Given the description of an element on the screen output the (x, y) to click on. 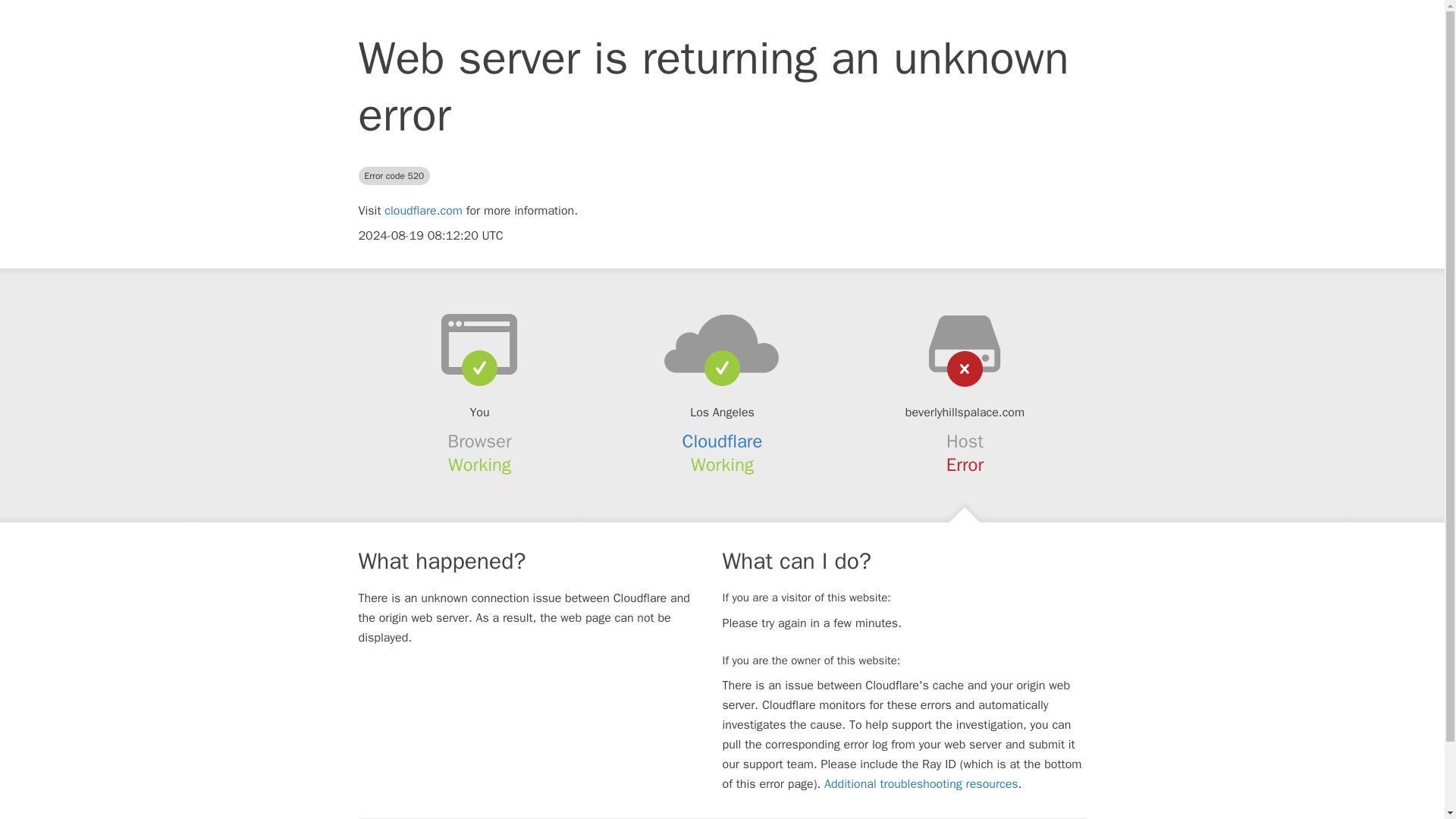
Additional troubleshooting resources (920, 783)
cloudflare.com (423, 210)
Cloudflare (722, 440)
